Given the description of an element on the screen output the (x, y) to click on. 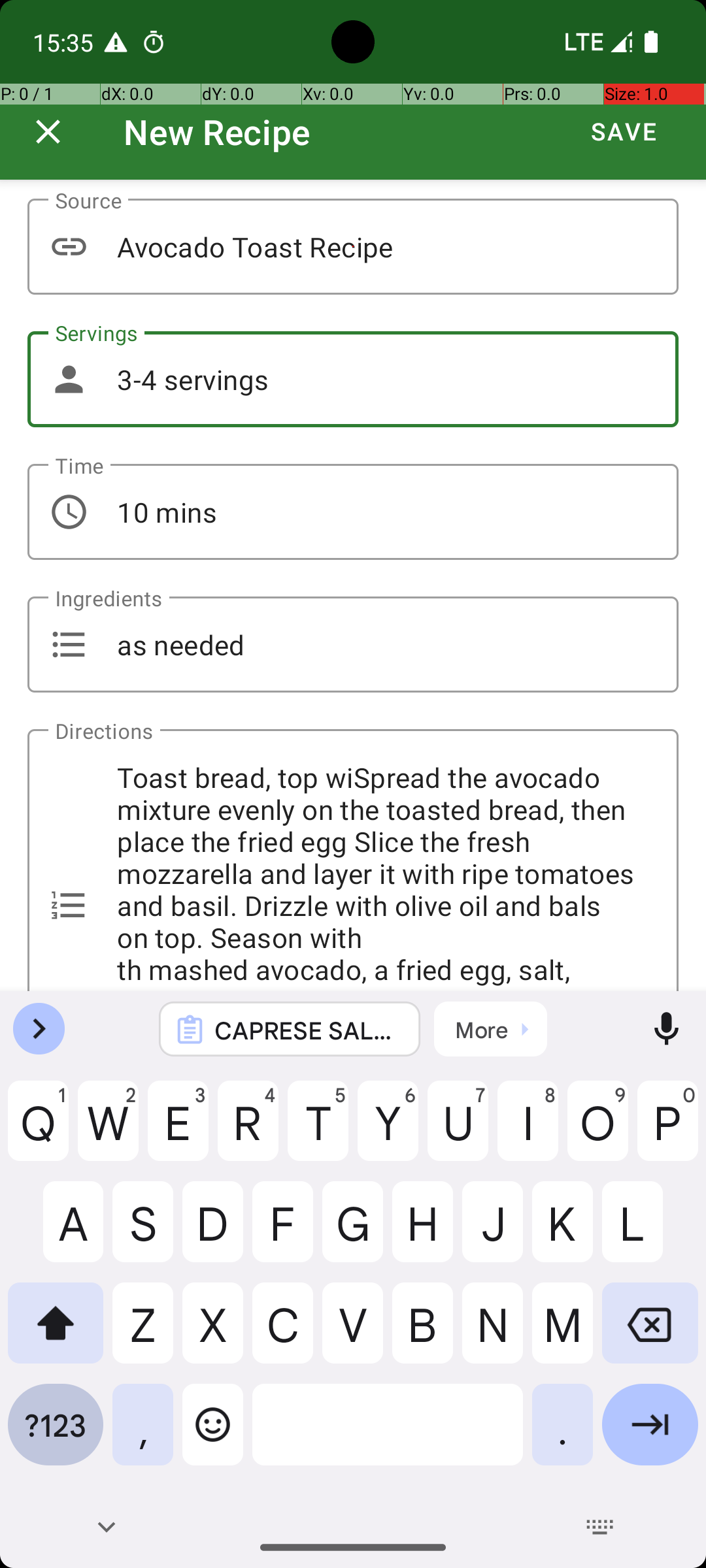
Avocado Toast Recipe Element type: android.widget.EditText (352, 246)
10 mins Element type: android.widget.EditText (352, 511)
as needed Element type: android.widget.EditText (352, 644)
Toast bread, top wiSpread the avocado mixture evenly on the toasted bread, then place the fried egg Slice the fresh mozzarella and layer it with ripe tomatoes and basil. Drizzle with olive oil and bals
on top. Season with
th mashed avocado, a fried egg, salt, pepper, and chili flakes. Try adding a pinch of your favorite spices for extra flavor. Element type: android.widget.EditText (352, 860)
CAPRESE SALAD SKEWERS  Servings: 1 serving Time: 45 mins  A quick and easy meal, perfect for busy weekdays.  Ingredients: - n/a  Directions: 1. Thread cherry tomatoes, basil leaves, and mozzarella balls onto skewers. Drizzle with balsamic glaze. Feel free to substitute with ingredients you have on hand.  Shared with https://play.google.com/store/apps/details?id=com.flauschcode.broccoli Element type: android.widget.TextView (306, 1029)
